Given the description of an element on the screen output the (x, y) to click on. 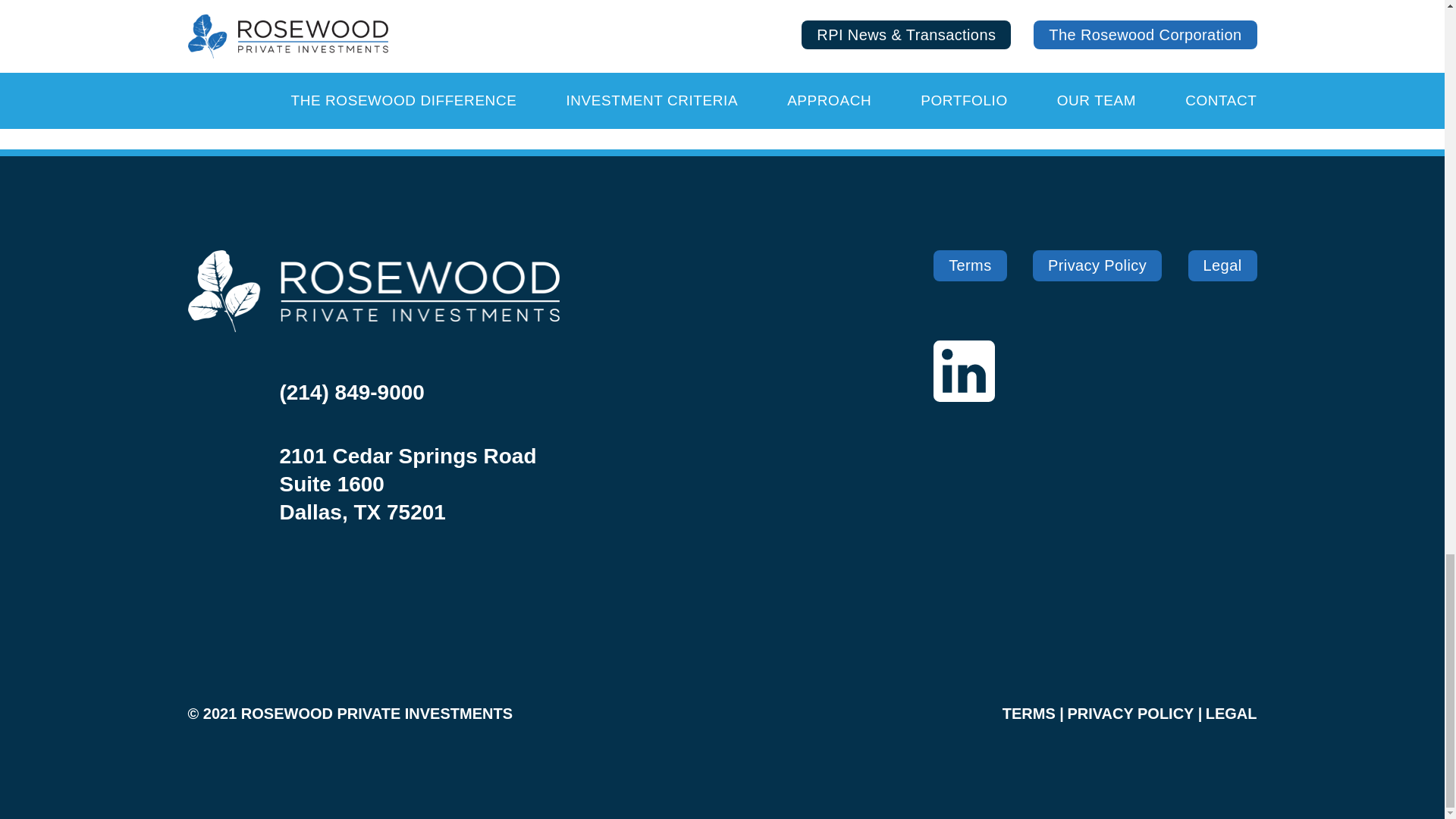
PRIVACY POLICY (1130, 713)
Terms (969, 265)
LEGAL (1231, 713)
Privacy Policy (1096, 265)
TERMS (1029, 713)
Legal (1222, 265)
